Given the description of an element on the screen output the (x, y) to click on. 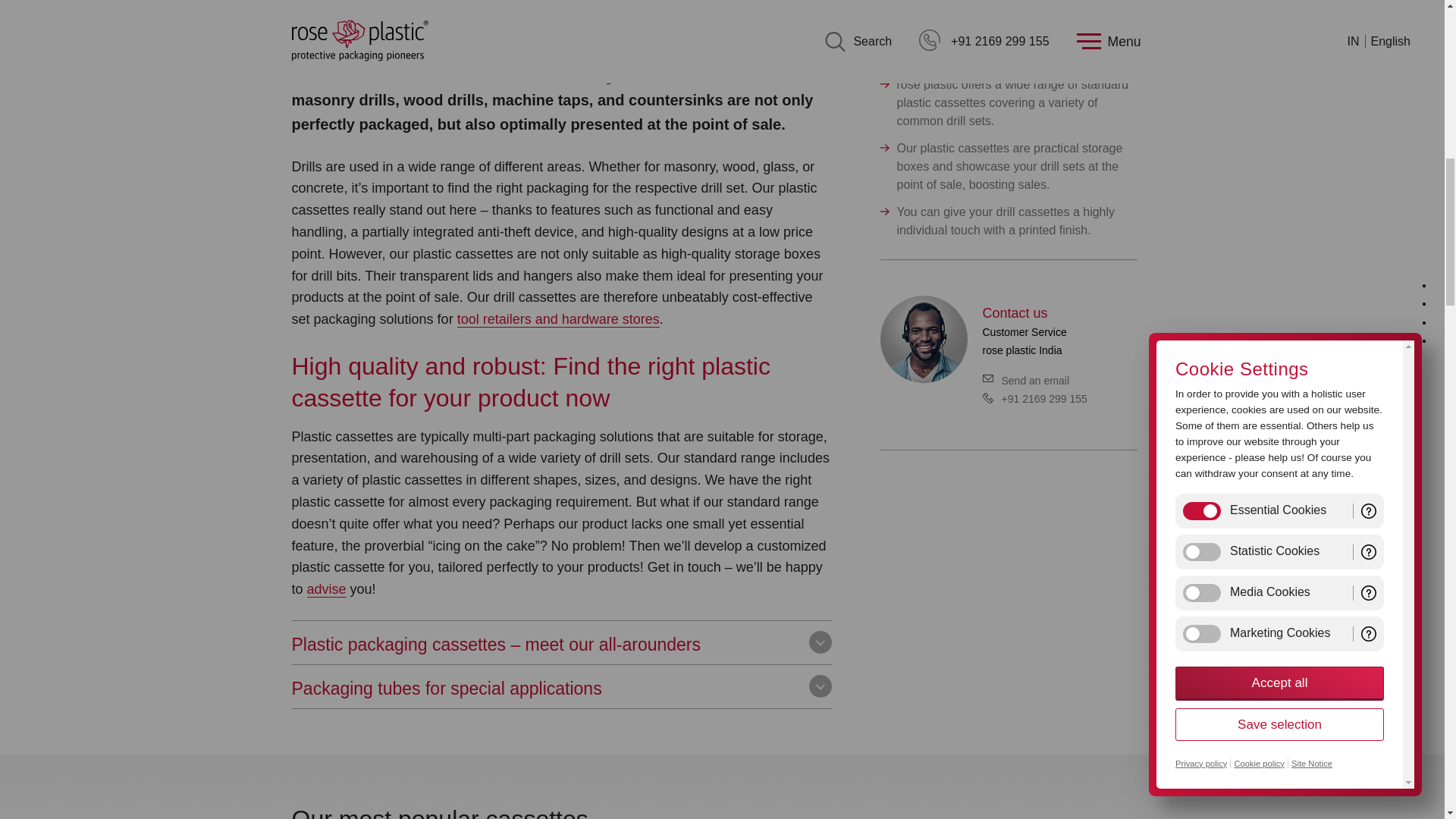
Customer Service (922, 339)
